Given the description of an element on the screen output the (x, y) to click on. 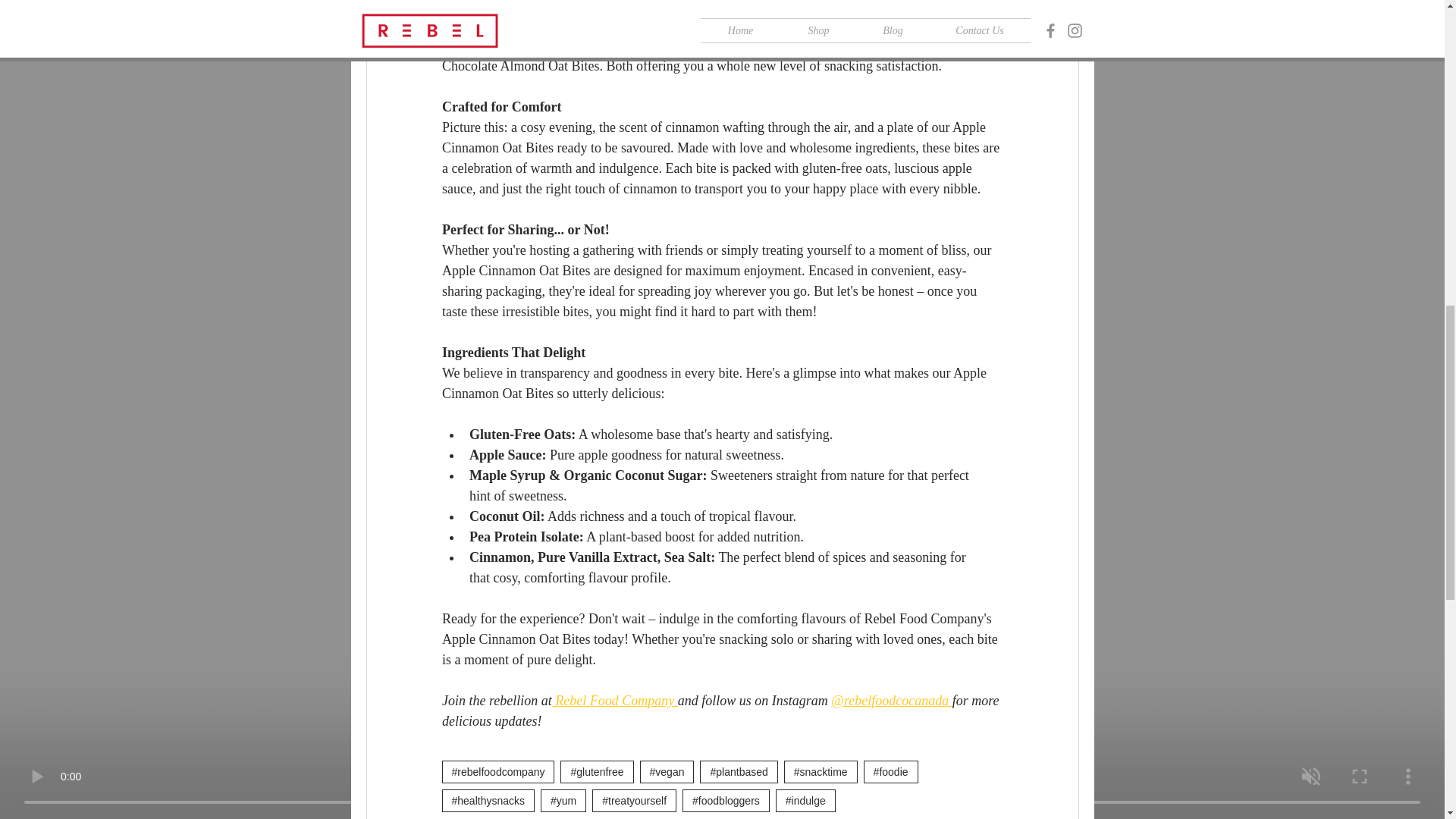
 Rebel Food Company  (614, 700)
rebelfoodcocanada  (897, 700)
